Given the description of an element on the screen output the (x, y) to click on. 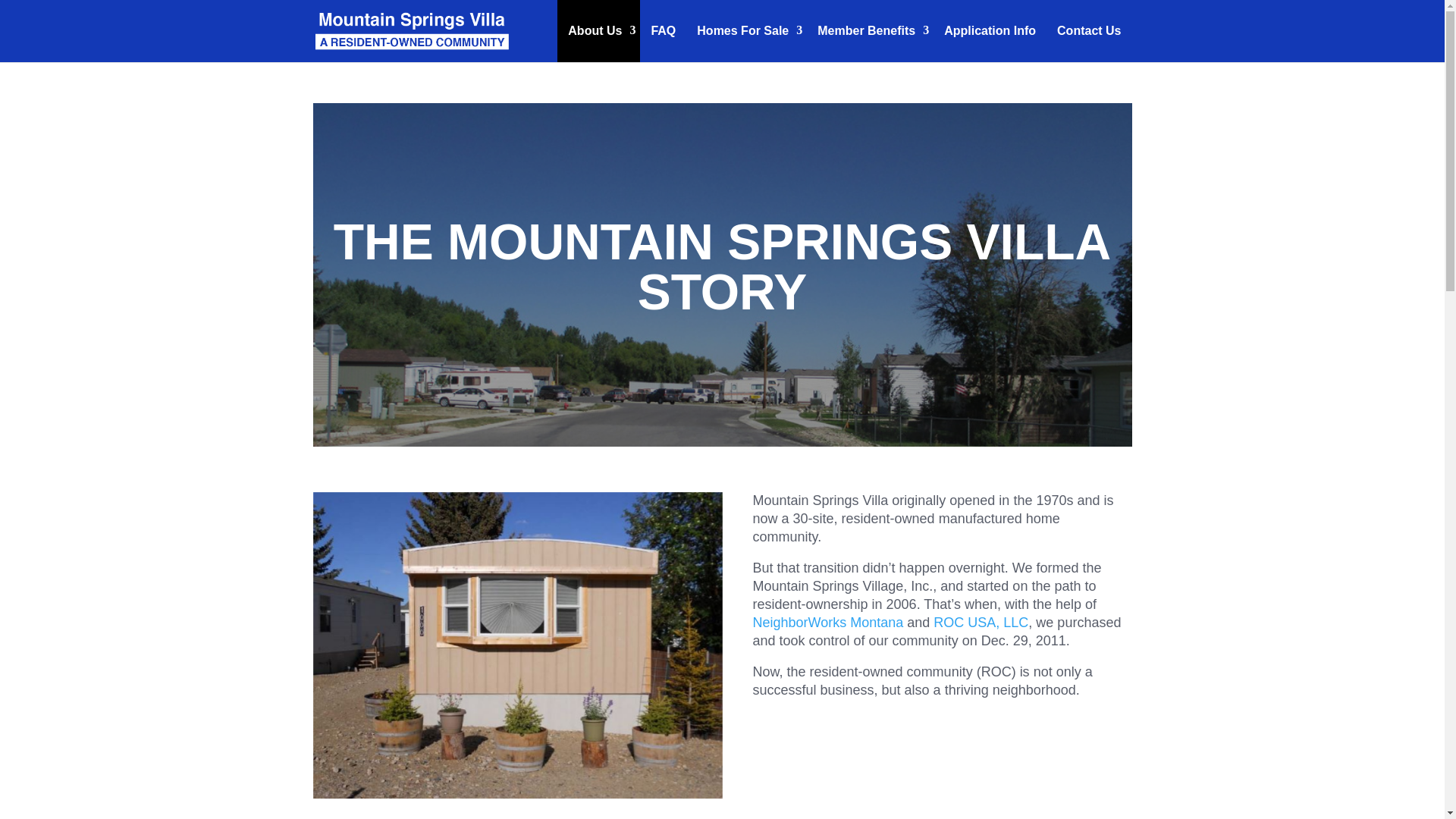
ROC USA, LLC (980, 622)
Application Info (989, 31)
FAQ (662, 31)
Member Benefits (869, 31)
Homes For Sale (745, 31)
NeighborWorks Montana (827, 622)
Contact Us (1088, 31)
About Us (598, 31)
